Given the description of an element on the screen output the (x, y) to click on. 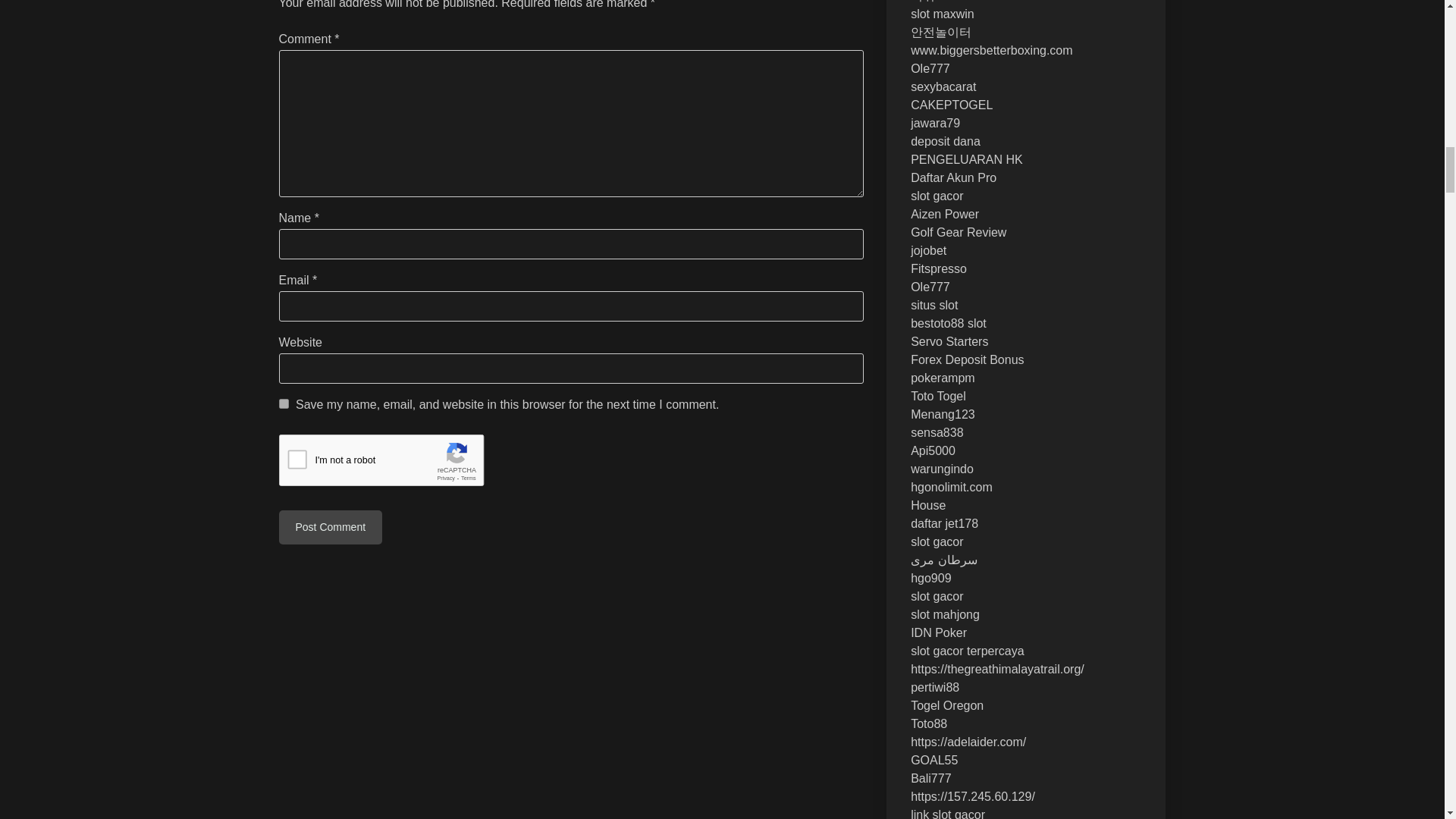
jojobet (928, 250)
reCAPTCHA (394, 463)
Post Comment (330, 527)
Post Comment (330, 527)
yes (283, 403)
